Given the description of an element on the screen output the (x, y) to click on. 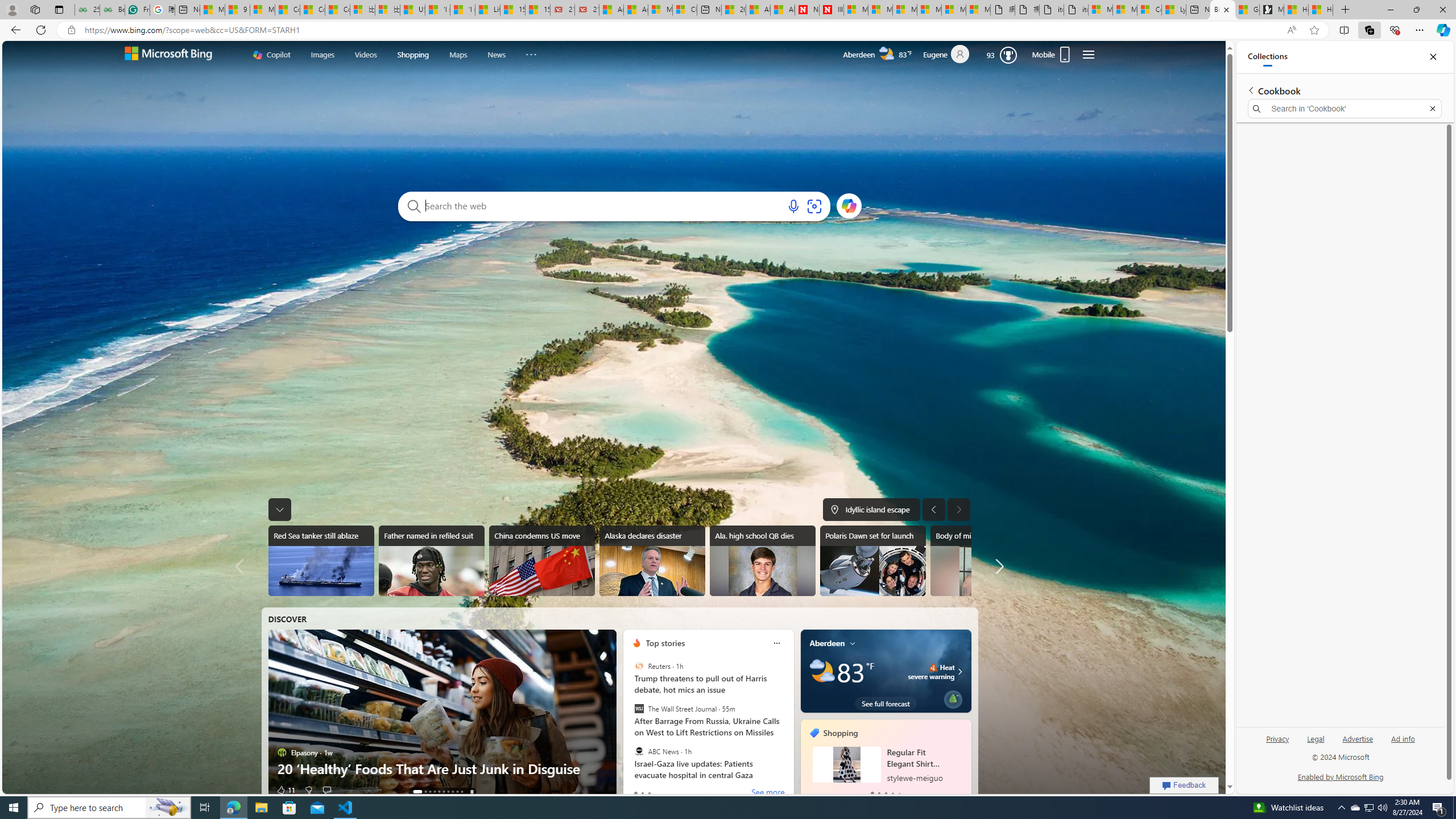
tab-0 (871, 793)
Microsoft Rewards 93 (1001, 54)
AutomationID: tab-0 (414, 791)
Alaska declares disaster (651, 560)
Videos (365, 53)
More news (997, 566)
Best SSL Certificates Provider in India - GeeksforGeeks (111, 9)
AutomationID: tab-7 (451, 791)
